Given the description of an element on the screen output the (x, y) to click on. 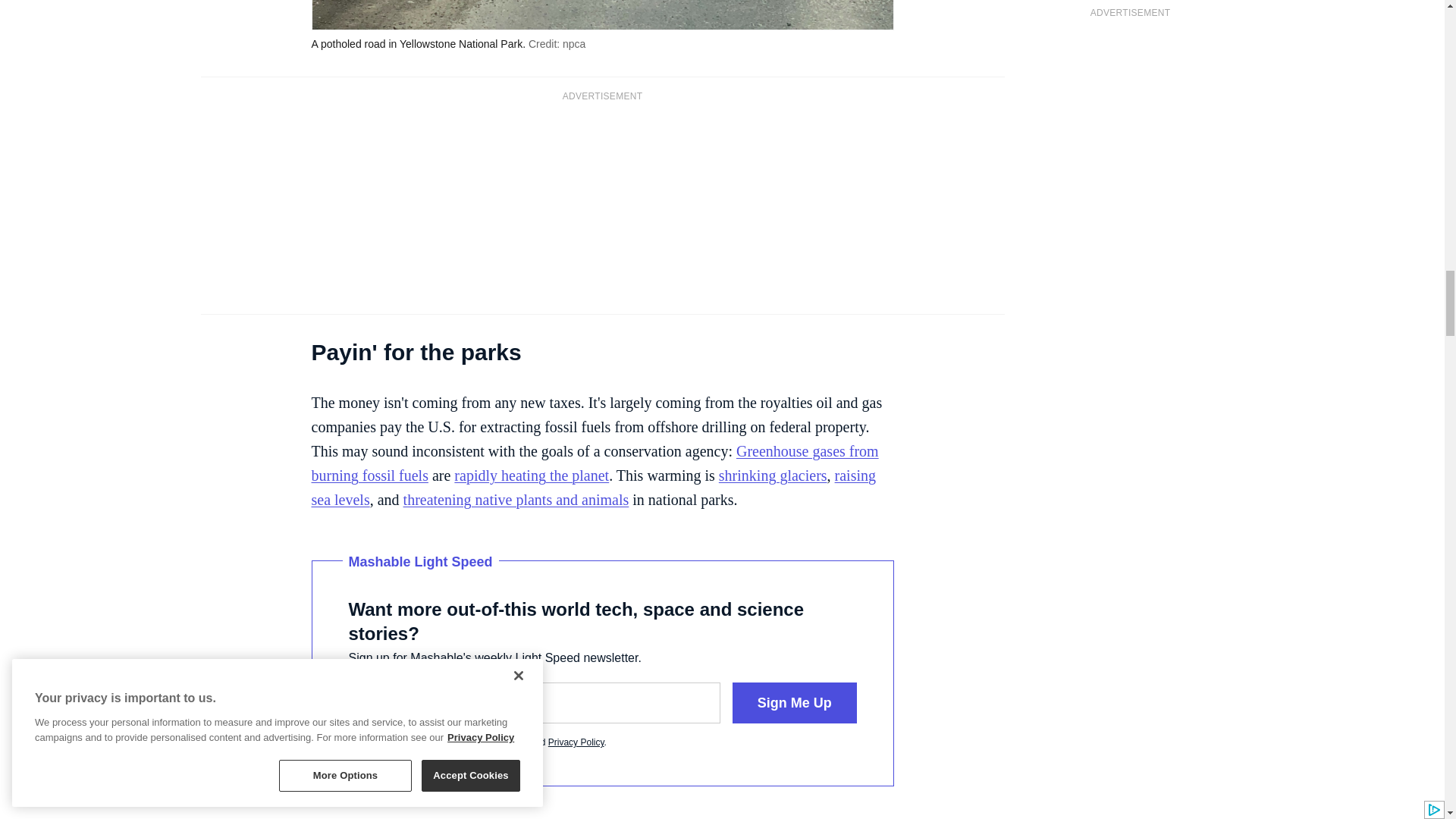
3rd party ad content (601, 205)
